Given the description of an element on the screen output the (x, y) to click on. 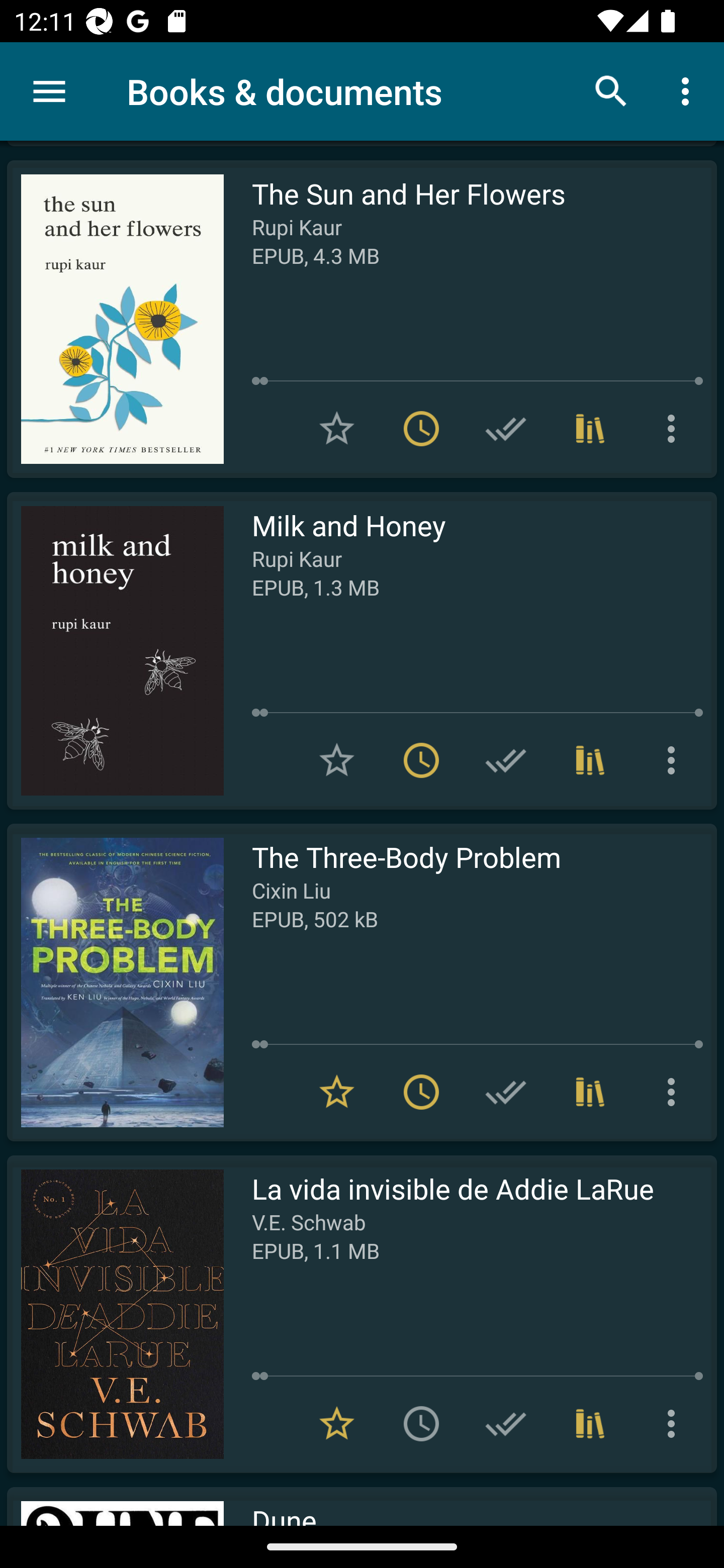
Menu (49, 91)
Search books & documents (611, 90)
More options (688, 90)
Read The Sun and Her Flowers (115, 318)
Add to Favorites (336, 427)
Remove from To read (421, 427)
Add to Have read (505, 427)
Collections (1) (590, 427)
More options (674, 427)
Read Milk and Honey (115, 650)
Add to Favorites (336, 760)
Remove from To read (421, 760)
Add to Have read (505, 760)
Collections (2) (590, 760)
More options (674, 760)
Read The Three-Body Problem (115, 982)
Remove from Favorites (336, 1091)
Remove from To read (421, 1091)
Add to Have read (505, 1091)
Collections (1) (590, 1091)
More options (674, 1091)
Read La vida invisible de Addie LaRue (115, 1313)
Remove from Favorites (336, 1423)
Add to To read (421, 1423)
Add to Have read (505, 1423)
Collections (1) (590, 1423)
More options (674, 1423)
